Given the description of an element on the screen output the (x, y) to click on. 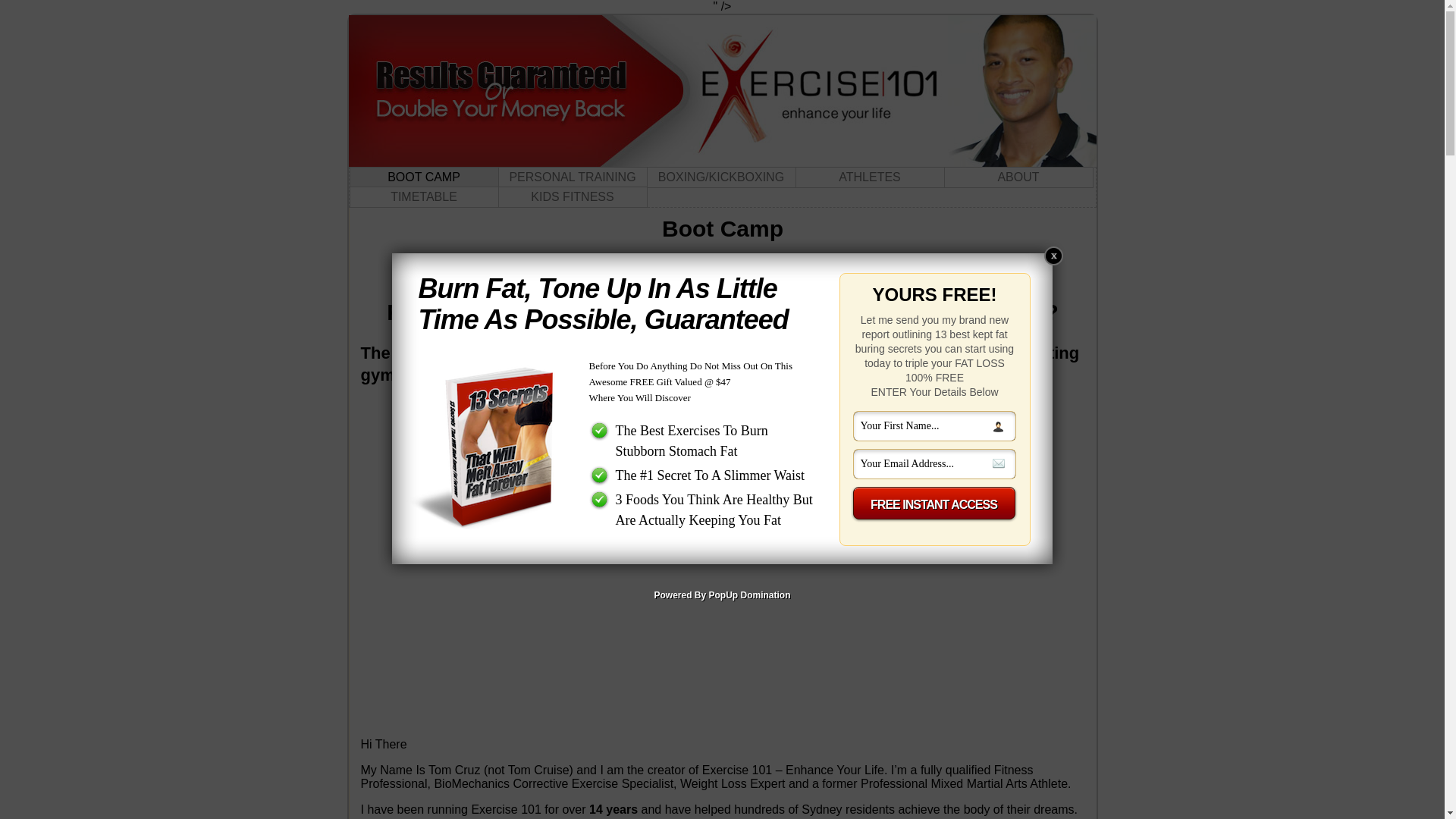
PERSONAL TRAINING Element type: text (571, 177)
ABOUT Element type: text (1017, 177)
Watch-this-video-now-graphic5 Element type: hover (722, 438)
TIMETABLE Element type: text (423, 196)
ATHLETES Element type: text (869, 177)
FREE INSTANT ACCESS Element type: text (933, 504)
BOXING/KICKBOXING Element type: text (720, 177)
Powered By PopUp Domination Element type: text (721, 594)
BOOT CAMP Element type: text (423, 177)
KIDS FITNESS Element type: text (571, 196)
